Given the description of an element on the screen output the (x, y) to click on. 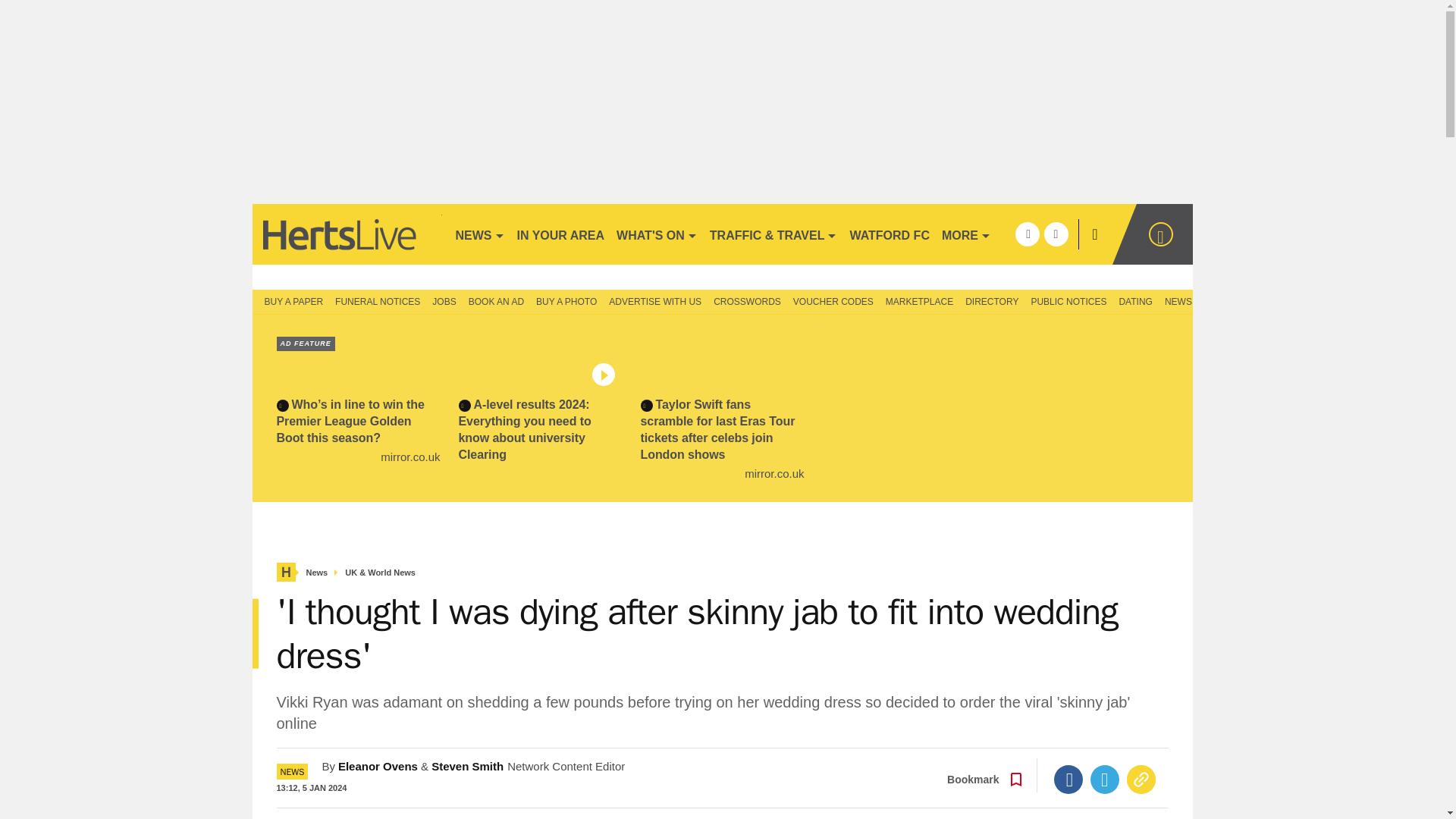
WHAT'S ON (656, 233)
NEWS (479, 233)
WATFORD FC (888, 233)
facebook (1026, 233)
Facebook (1068, 778)
hertfordshiremercury (346, 233)
twitter (1055, 233)
IN YOUR AREA (561, 233)
Twitter (1104, 778)
MORE (966, 233)
